Given the description of an element on the screen output the (x, y) to click on. 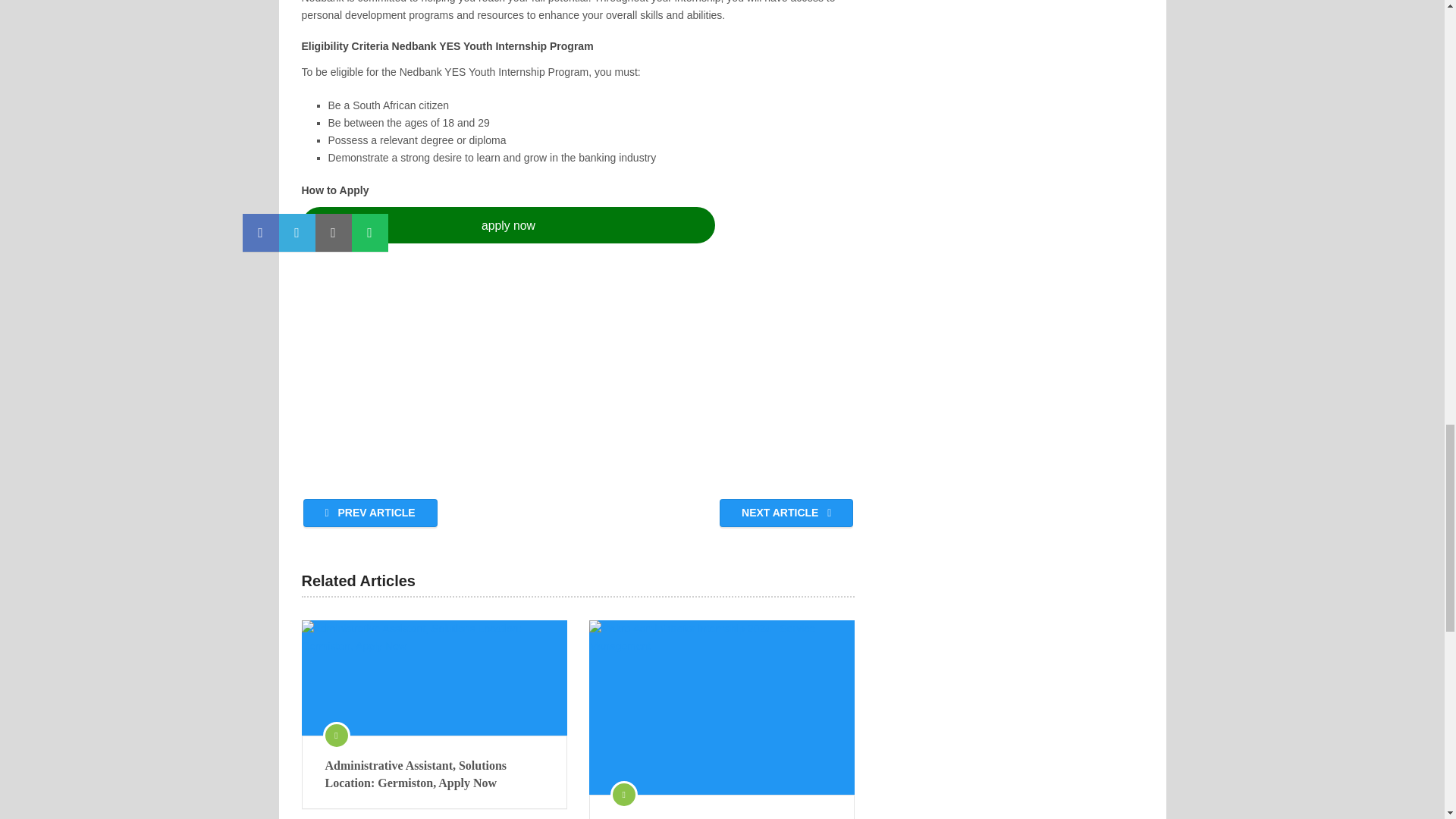
Makro Administrator internship 2024 : Service Management (721, 817)
PREV ARTICLE (370, 512)
Makro Administrator internship 2024 : Service Management (721, 706)
Makro Administrator internship 2024 : Service Management (721, 817)
apply now (508, 225)
NEXT ARTICLE (786, 512)
